Given the description of an element on the screen output the (x, y) to click on. 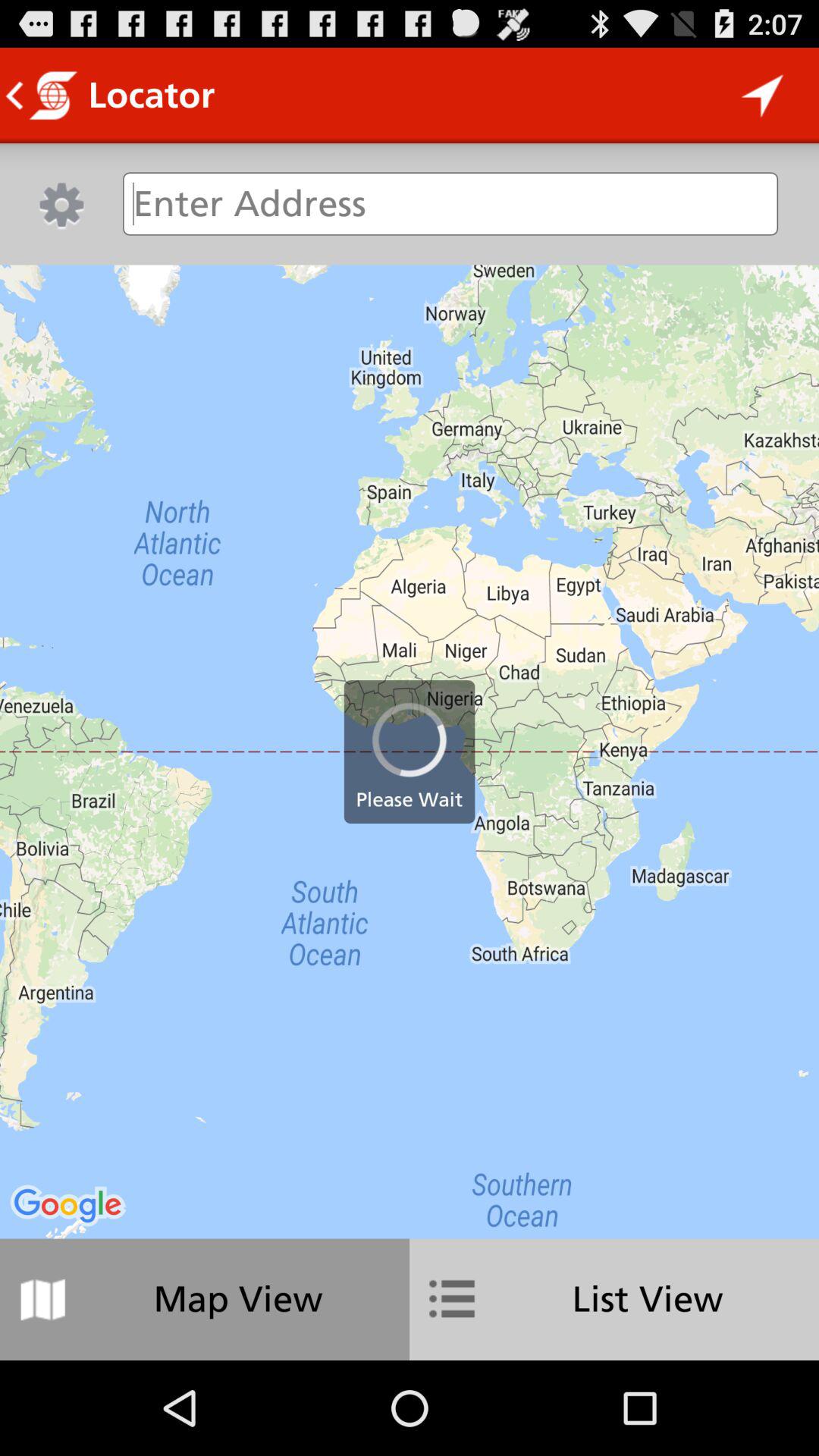
open map view item (204, 1299)
